Given the description of an element on the screen output the (x, y) to click on. 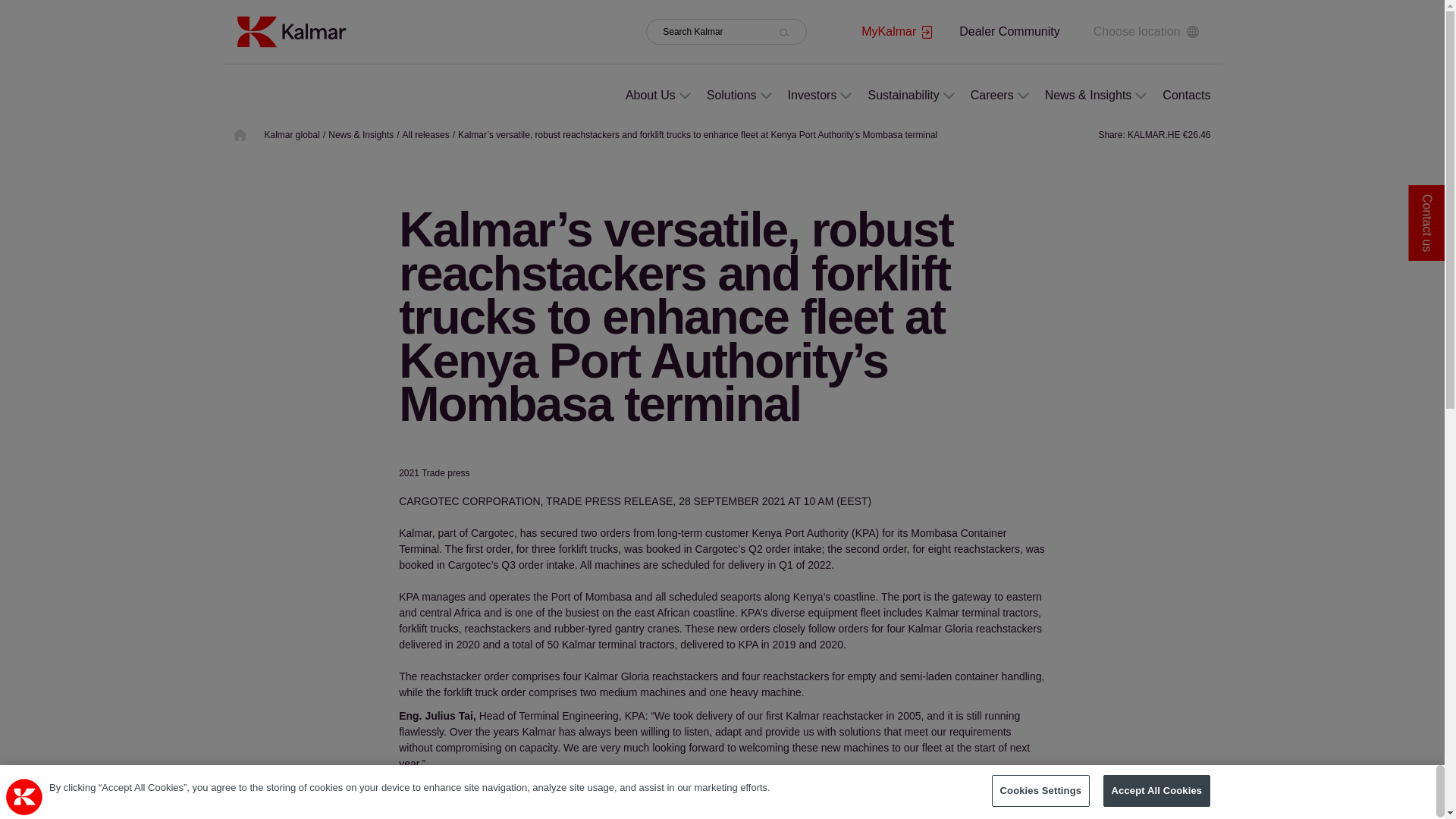
All releases (426, 134)
Company Logo (24, 796)
MyKalmar (896, 31)
Home (289, 30)
Kalmar logo (289, 31)
Dealer Community (1009, 31)
Kalmar global (290, 134)
